Given the description of an element on the screen output the (x, y) to click on. 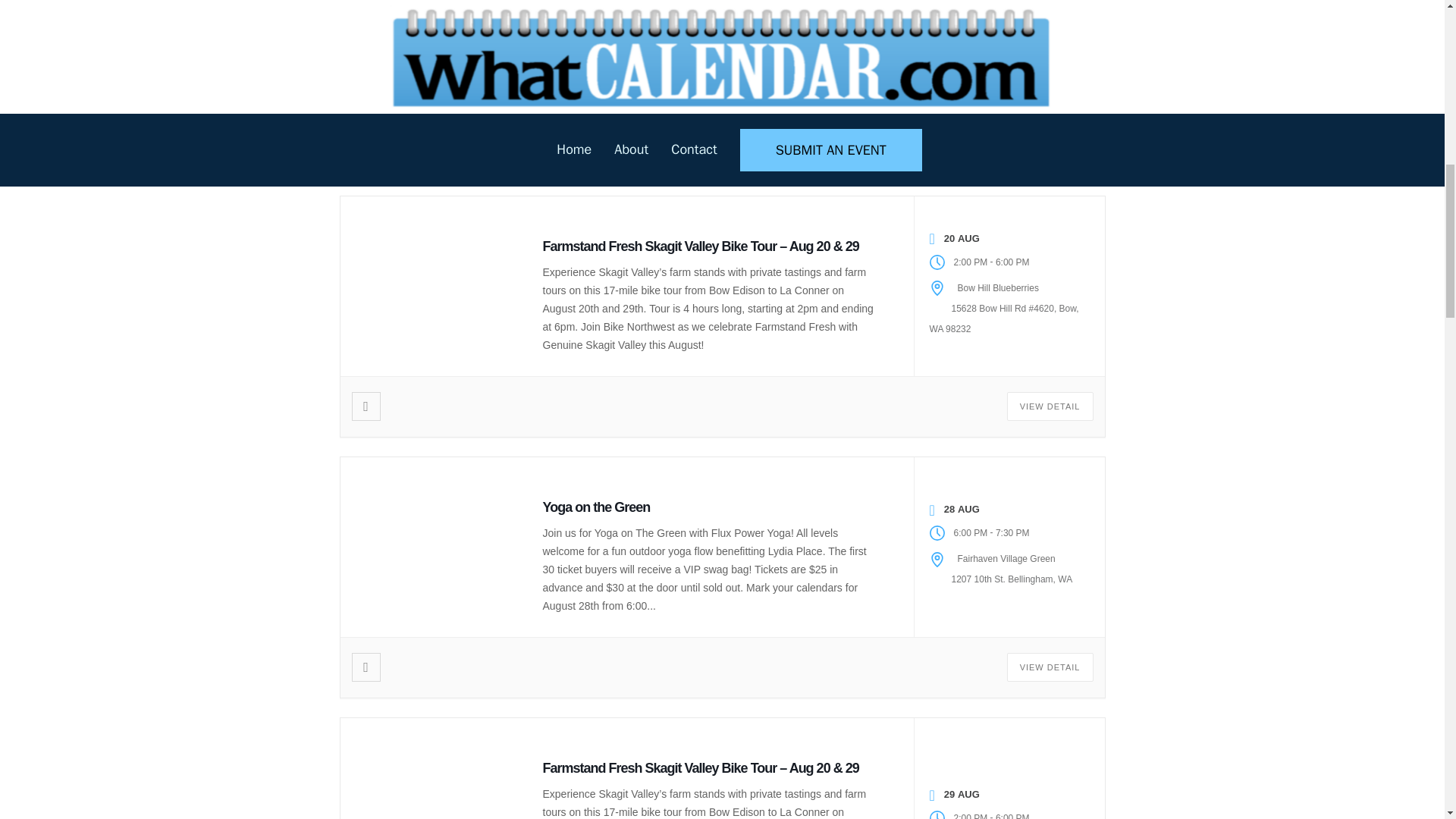
Share (365, 666)
Share (365, 144)
VIEW DETAIL (1050, 145)
Share (365, 406)
Yoga on the Green (596, 507)
VIEW DETAIL (1050, 406)
VIEW DETAIL (1050, 666)
